Given the description of an element on the screen output the (x, y) to click on. 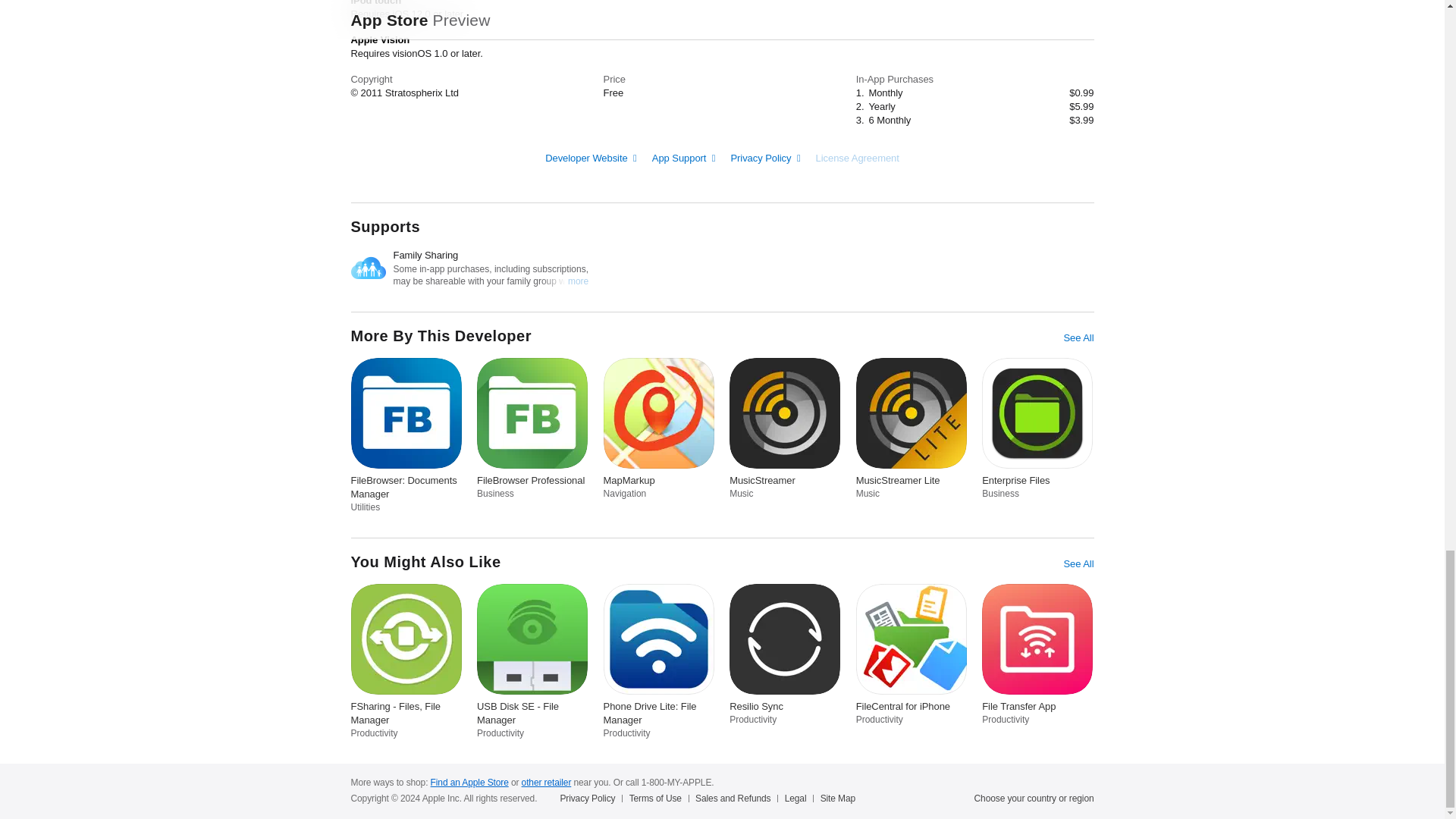
Choose your country or region (1034, 798)
